Given the description of an element on the screen output the (x, y) to click on. 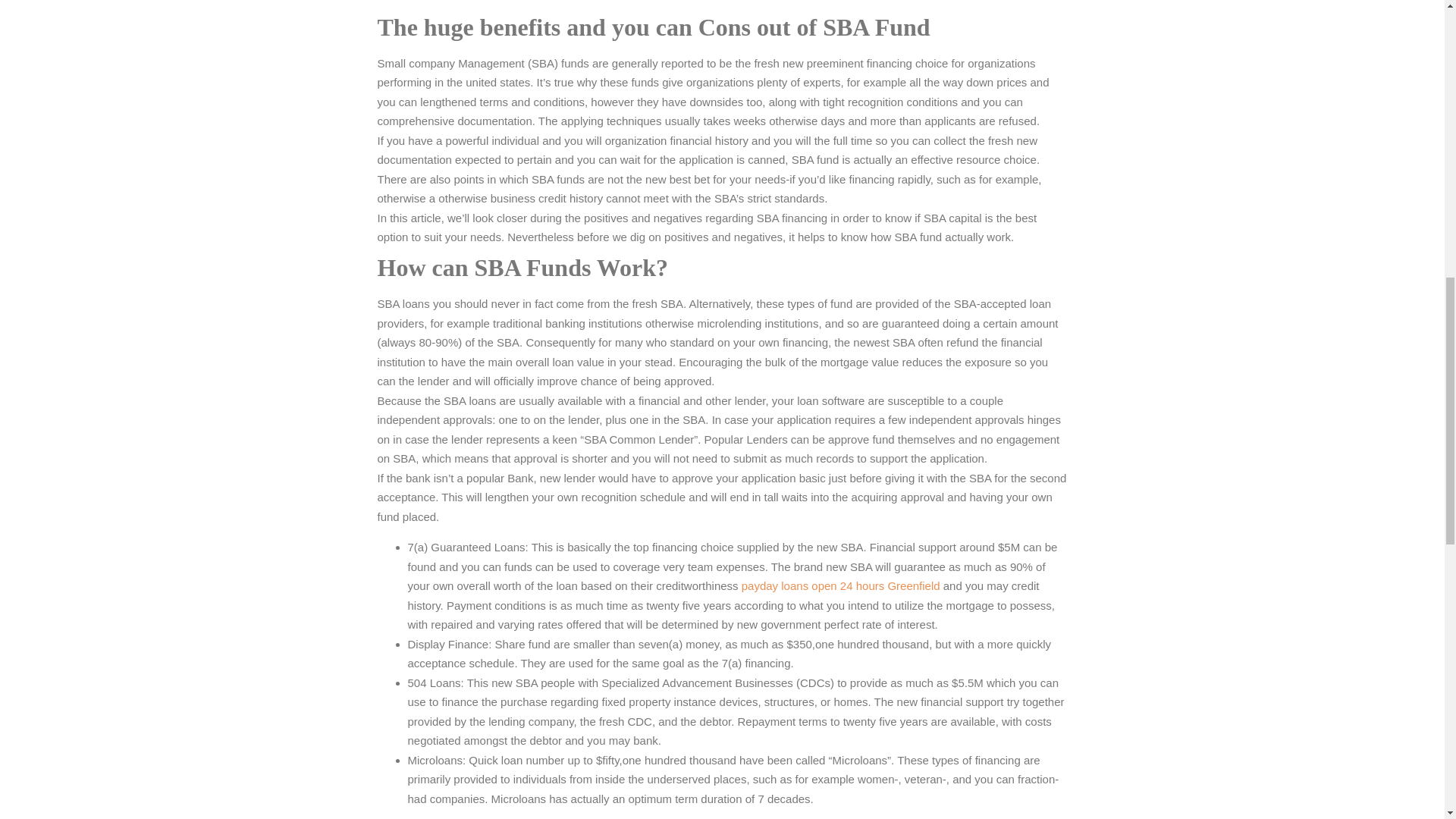
payday loans open 24 hours Greenfield (840, 585)
